Given the description of an element on the screen output the (x, y) to click on. 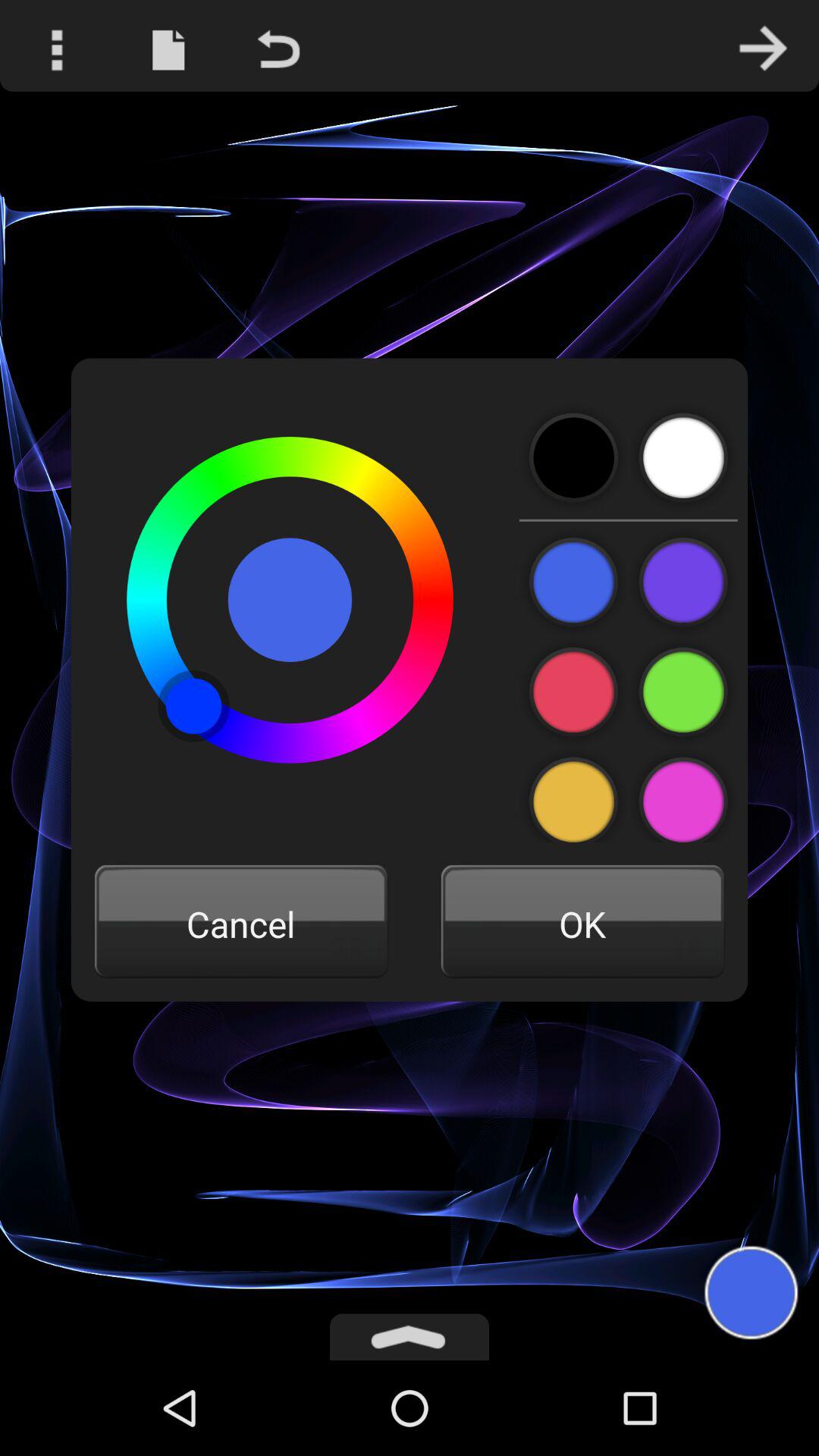
select the color (683, 794)
